Given the description of an element on the screen output the (x, y) to click on. 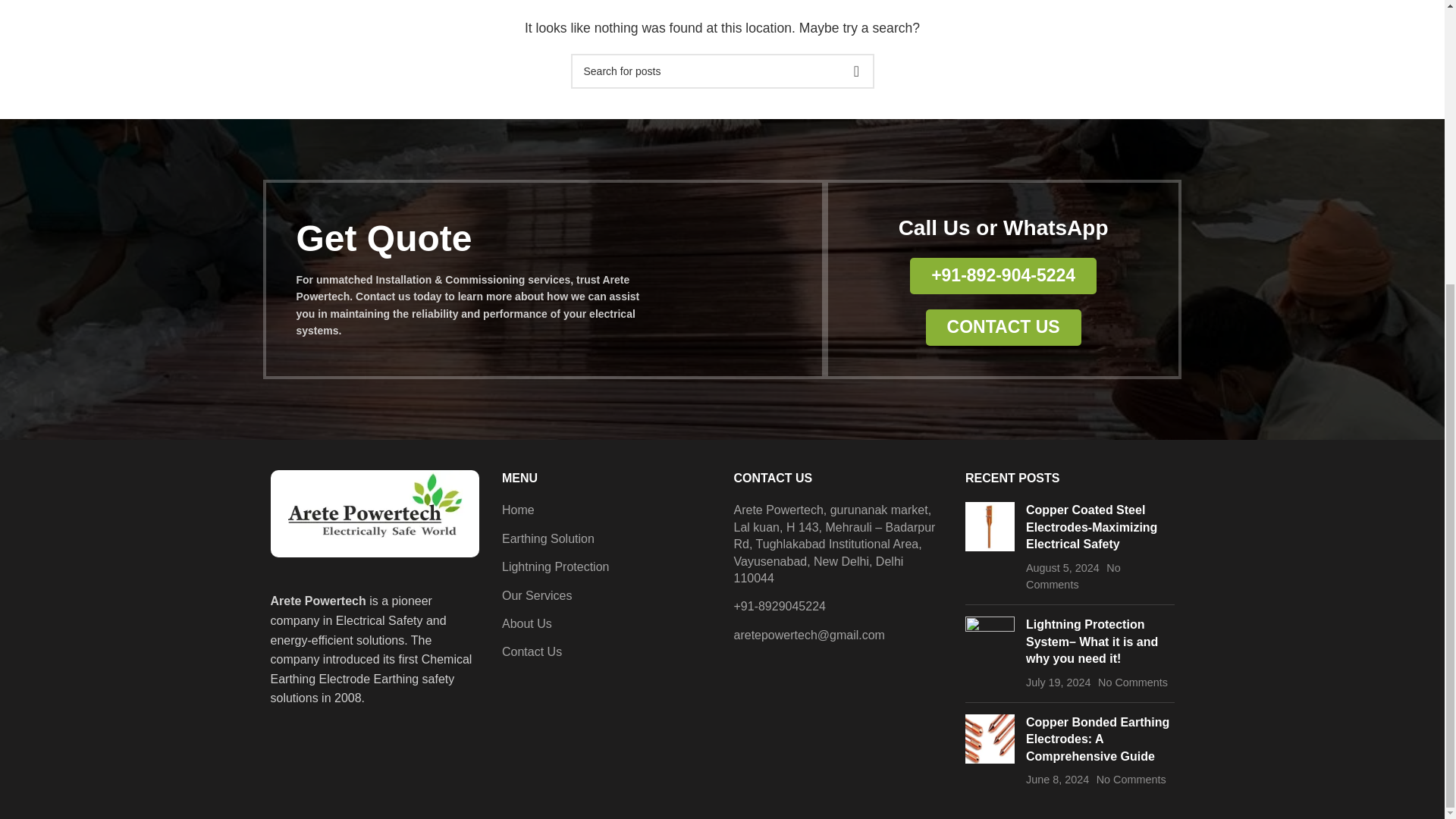
Our Services (537, 596)
Lightning Protection (556, 566)
About Us (527, 623)
SEARCH (855, 71)
Search for posts (721, 71)
logo (374, 513)
Home (518, 510)
CONTACT US (1003, 327)
Earthing Solution (548, 538)
